Given the description of an element on the screen output the (x, y) to click on. 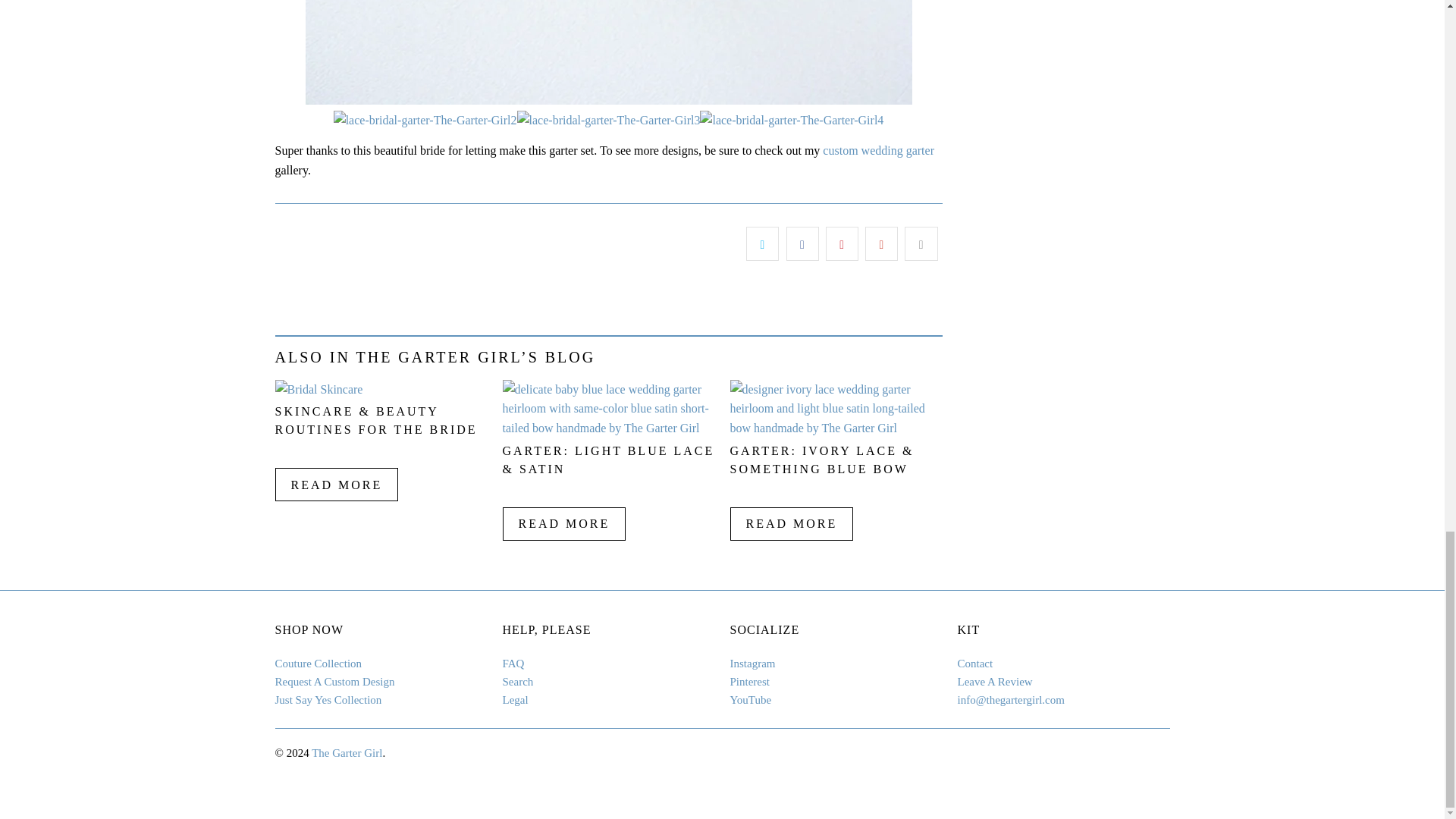
Share this on Pinterest (842, 243)
Share this on Facebook (802, 243)
Share this on Twitter (761, 243)
Email this to a friend (920, 243)
